Given the description of an element on the screen output the (x, y) to click on. 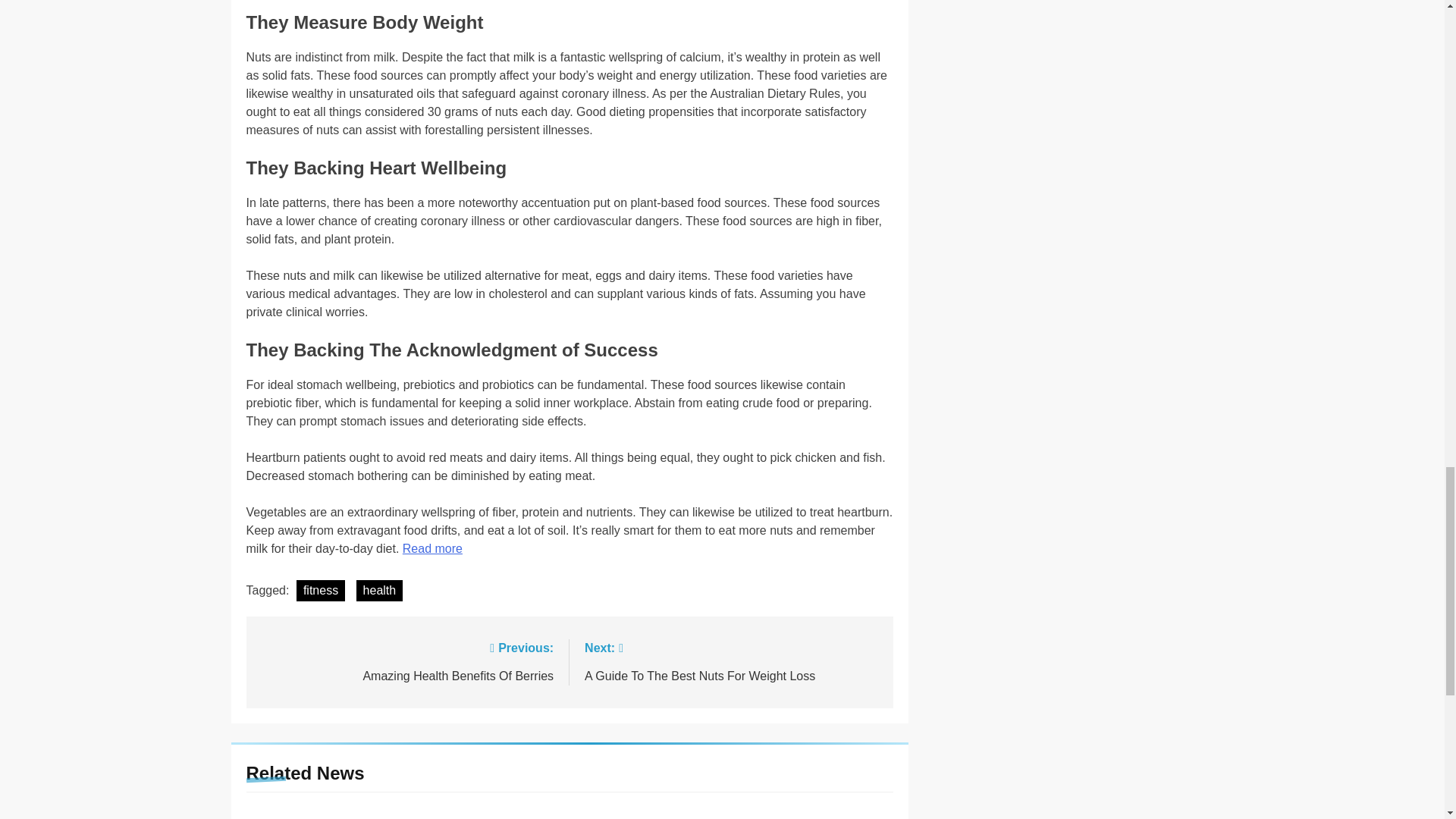
health (406, 660)
Read more (379, 590)
fitness (433, 548)
